Given the description of an element on the screen output the (x, y) to click on. 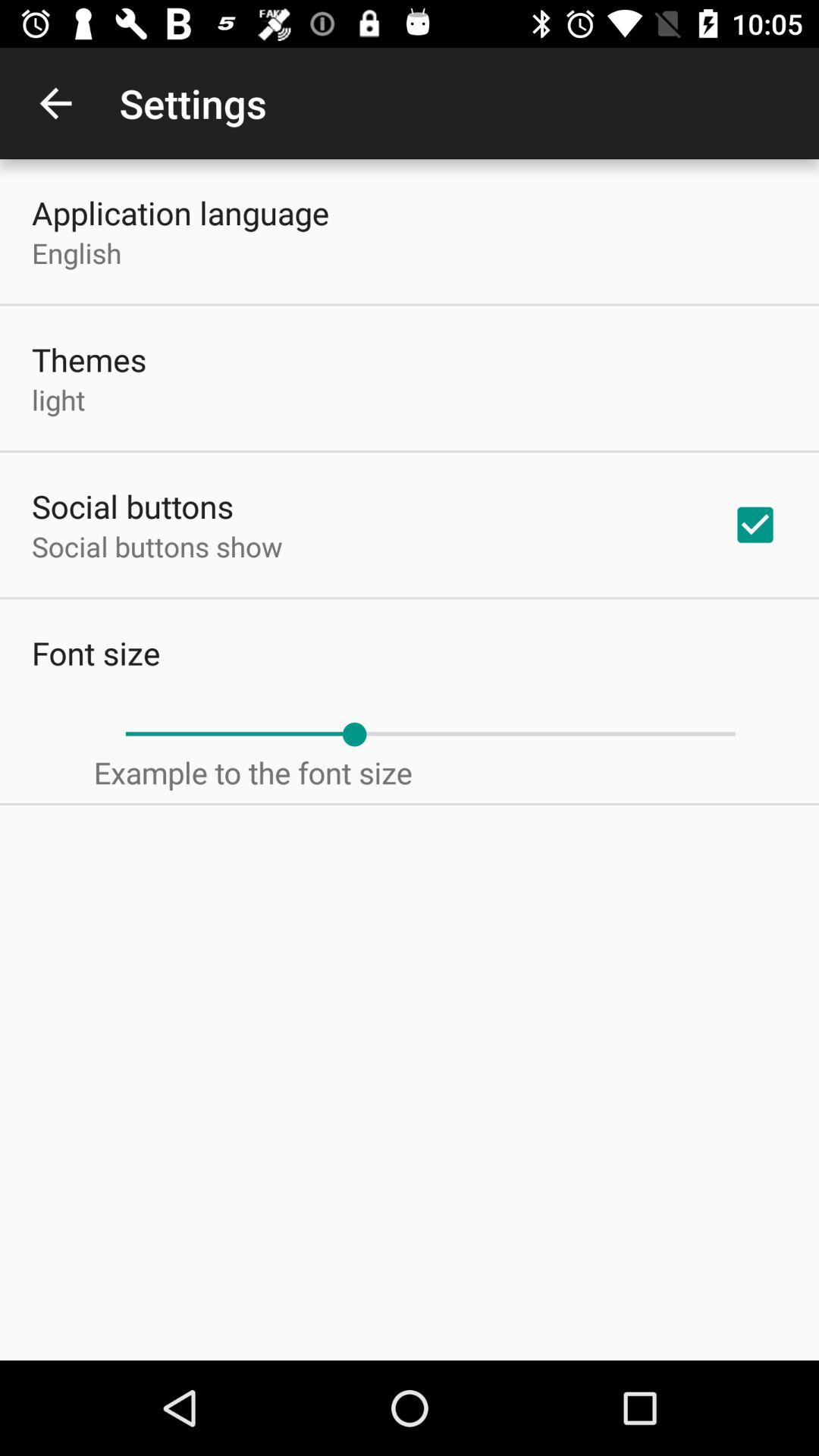
turn off the item above the light icon (88, 359)
